Given the description of an element on the screen output the (x, y) to click on. 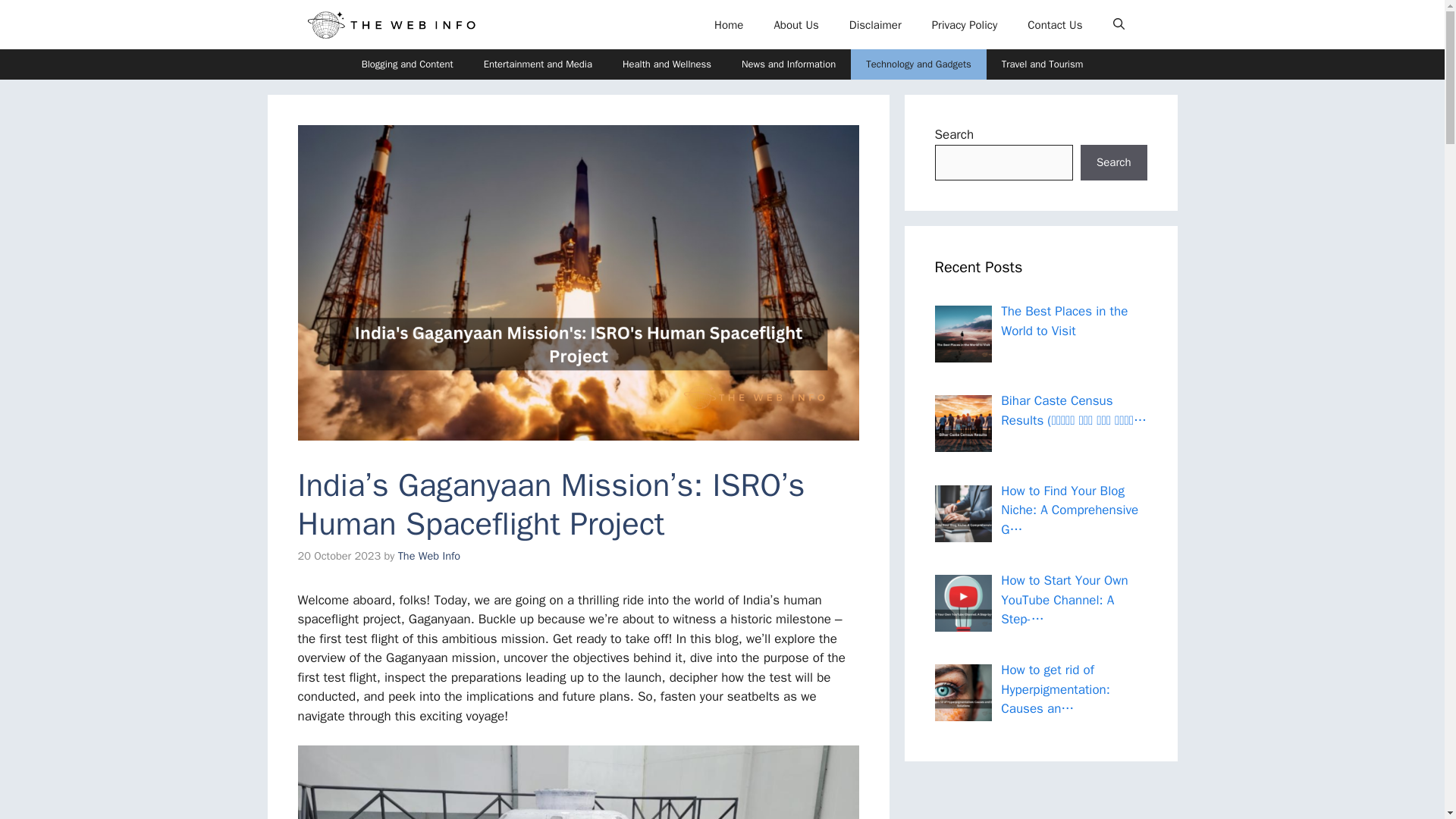
View all posts by The Web Info (428, 555)
About Us (795, 23)
Contact Us (1054, 23)
Blogging and Content (407, 64)
How to Start Your Own YouTube Channel: A Step-by-Step Guide (962, 602)
The Web Info (428, 555)
Entertainment and Media (537, 64)
The Best Places in the World to Visit (962, 333)
The Web Info (390, 24)
How to Find Your Blog Niche: A Comprehensive Guide (962, 513)
Privacy Policy (965, 23)
Search (1113, 162)
